Given the description of an element on the screen output the (x, y) to click on. 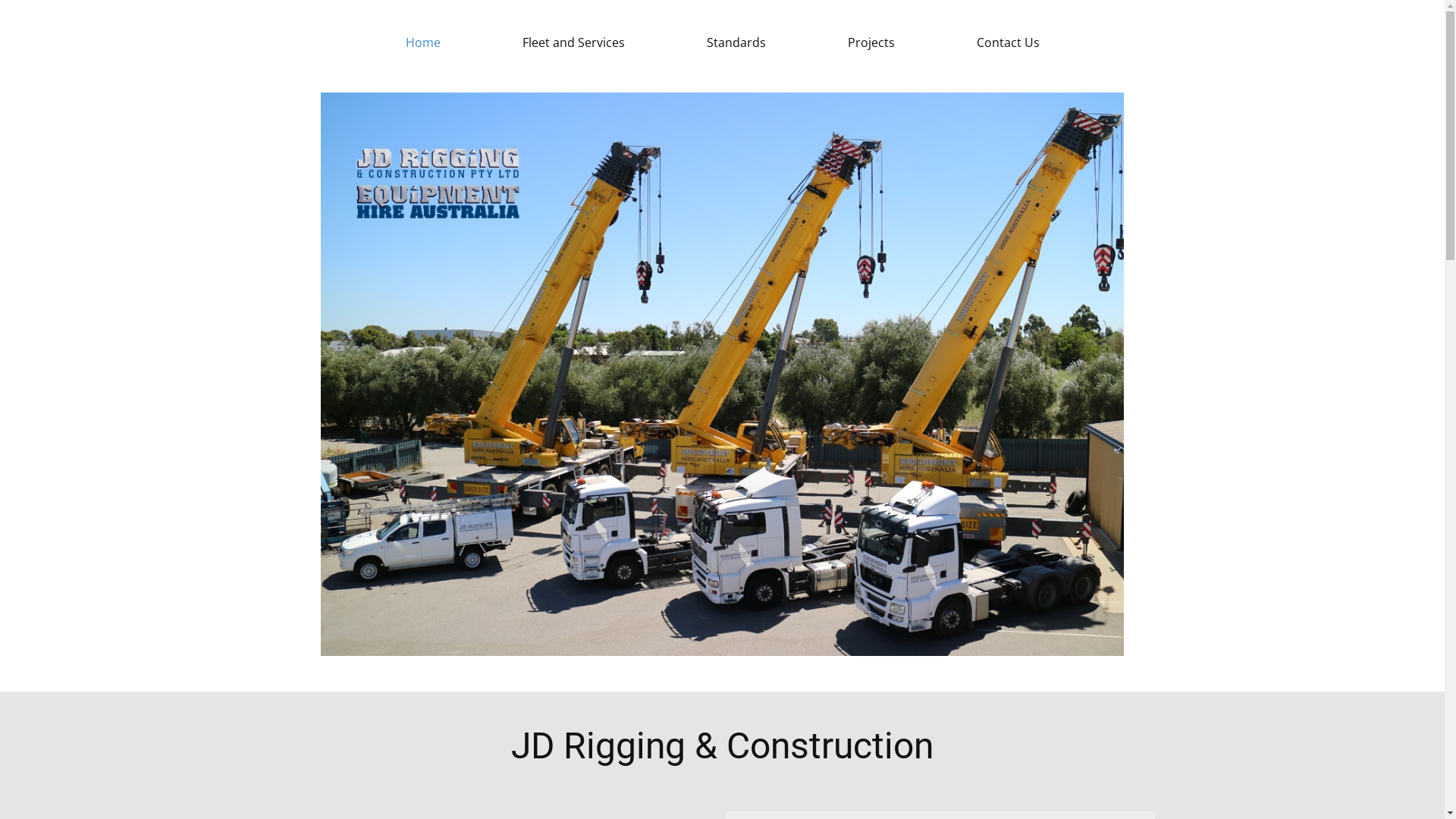
Fleet and Services Element type: text (572, 42)
Standards Element type: text (735, 42)
Projects Element type: text (870, 42)
Contact Us Element type: text (1007, 42)
Home Element type: text (422, 42)
